Given the description of an element on the screen output the (x, y) to click on. 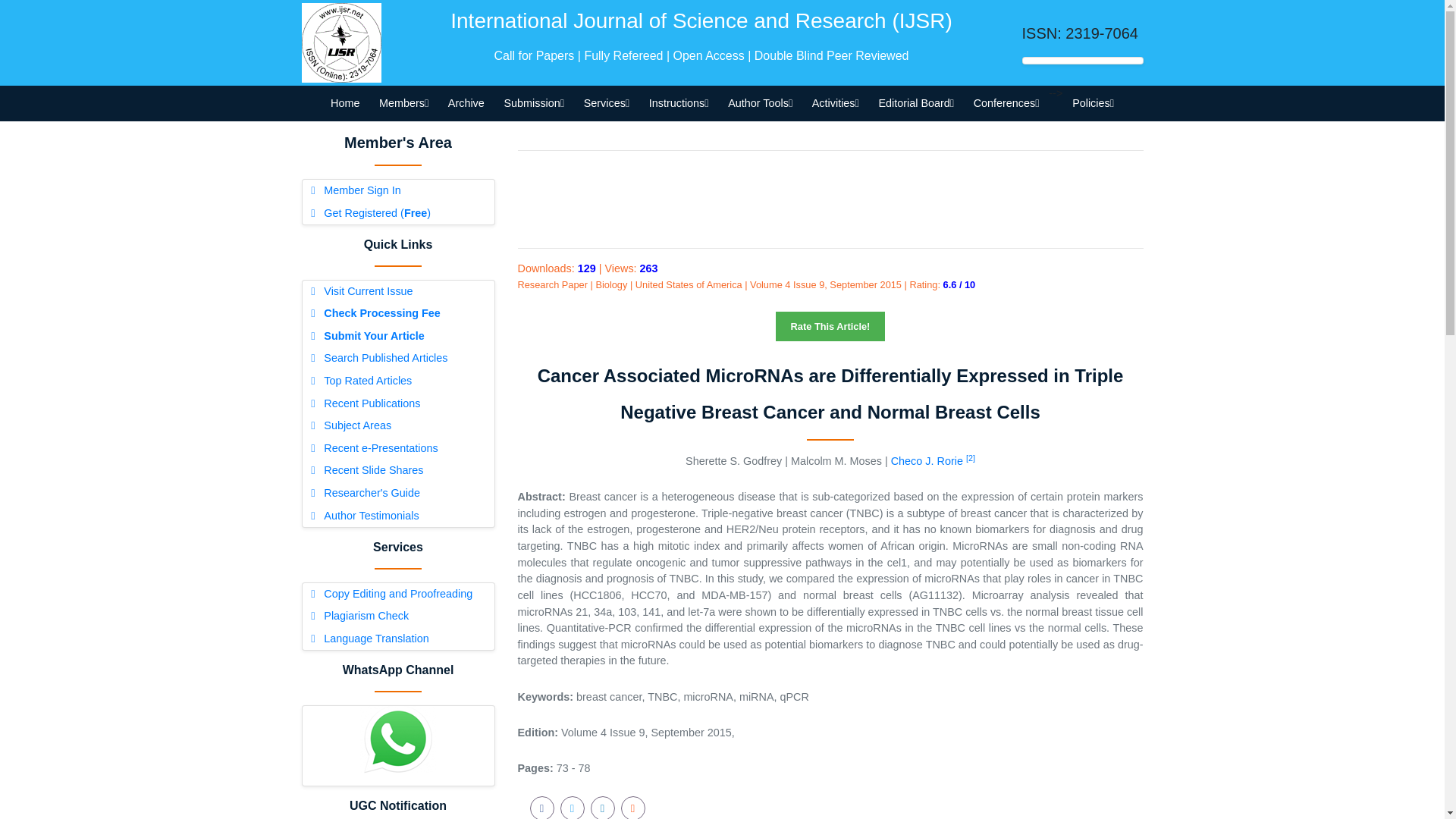
Archive (466, 103)
Activities (835, 103)
Home (344, 103)
Archive (466, 103)
Submission (534, 103)
Members (403, 103)
Instructions (678, 103)
Home (344, 103)
Author Tools (759, 103)
Services (606, 103)
